Given the description of an element on the screen output the (x, y) to click on. 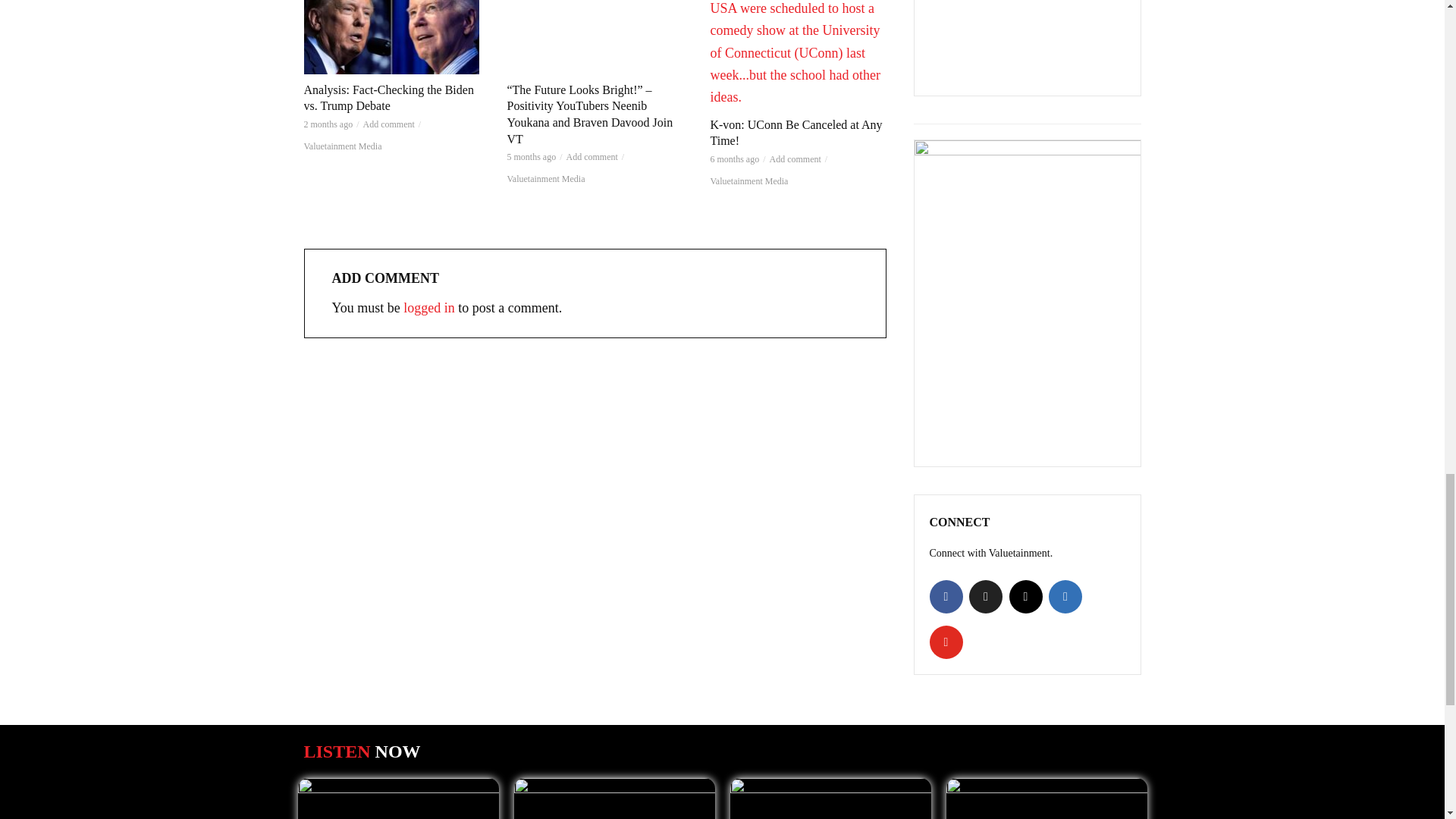
K-von: UConn Be Canceled at Any Time! (797, 54)
Analysis: Fact-Checking the Biden vs. Trump Debate (390, 37)
Linkedin (1064, 596)
Facebook (946, 596)
YouTube (946, 642)
Instagram (1025, 596)
